Given the description of an element on the screen output the (x, y) to click on. 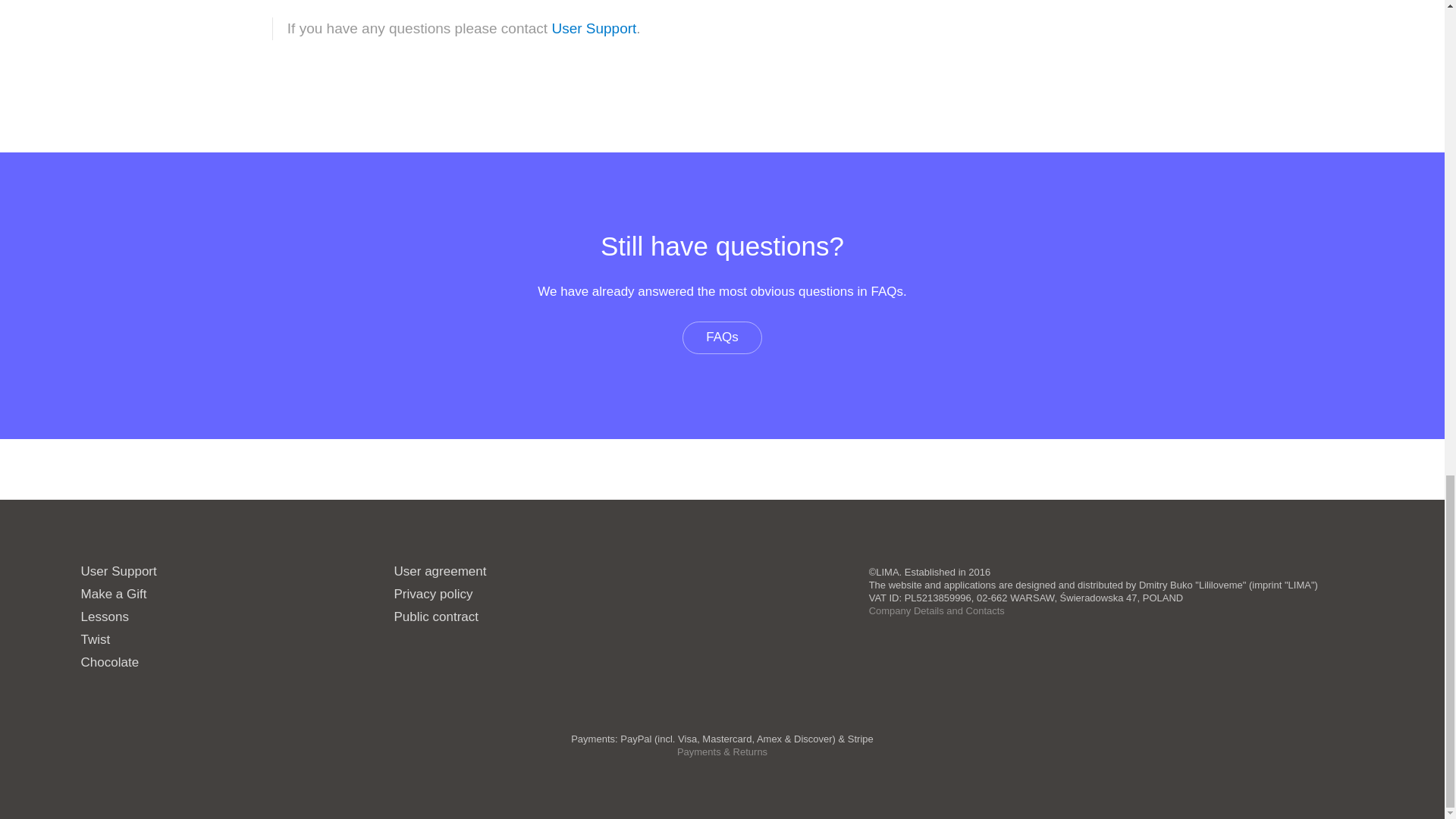
User Support (593, 28)
FAQs (721, 337)
Privacy policy (433, 594)
Make a Gift (114, 594)
User agreement (440, 571)
Twist (95, 639)
Lessons (105, 616)
Company Details and Contacts (936, 610)
Chocolate (110, 662)
User Support (119, 571)
Public contract (436, 616)
